Given the description of an element on the screen output the (x, y) to click on. 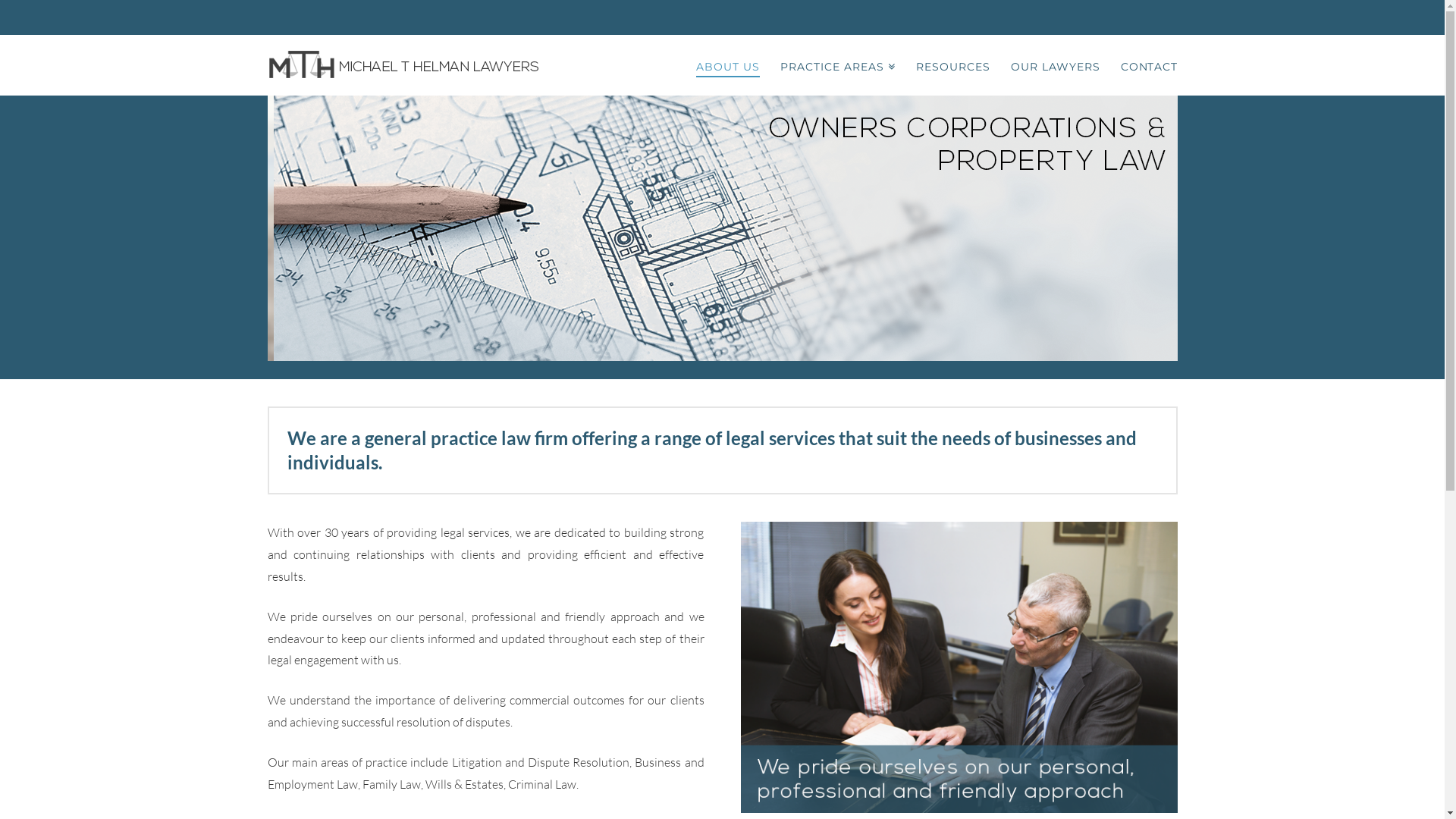
Legal Services Element type: hover (406, 64)
PRACTICE AREAS Element type: text (837, 64)
OUR LAWYERS Element type: text (1055, 64)
RESOURCES Element type: text (952, 64)
ABOUT US Element type: text (727, 64)
CONTACT Element type: text (1143, 64)
